Given the description of an element on the screen output the (x, y) to click on. 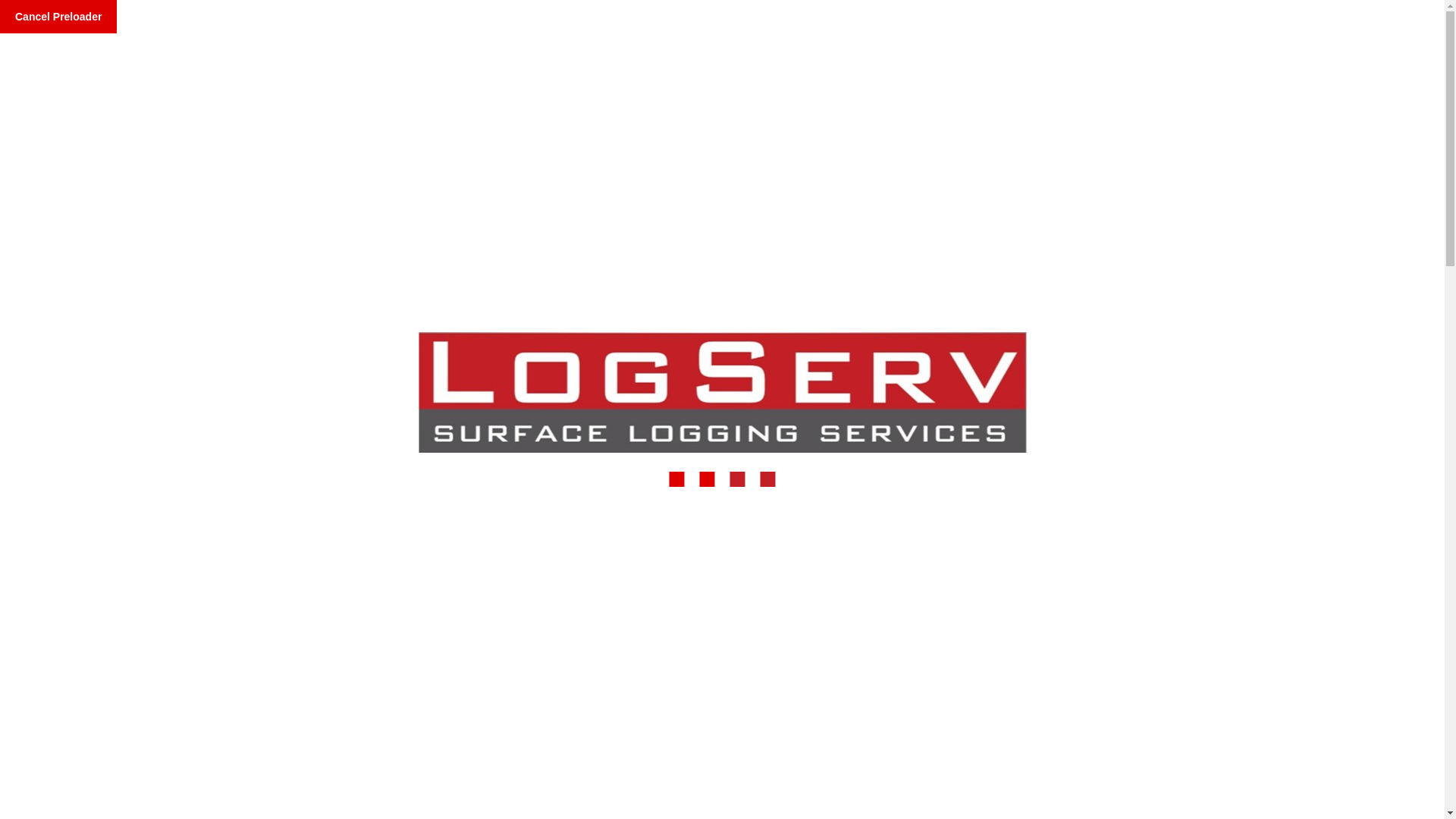
Career (757, 66)
About Us (682, 66)
Contact (827, 66)
General Policy Statement (402, 389)
Home (249, 389)
Genel (300, 389)
Reach Us (755, 9)
Home (249, 389)
Home (609, 66)
Cancel Preloader (58, 16)
